Given the description of an element on the screen output the (x, y) to click on. 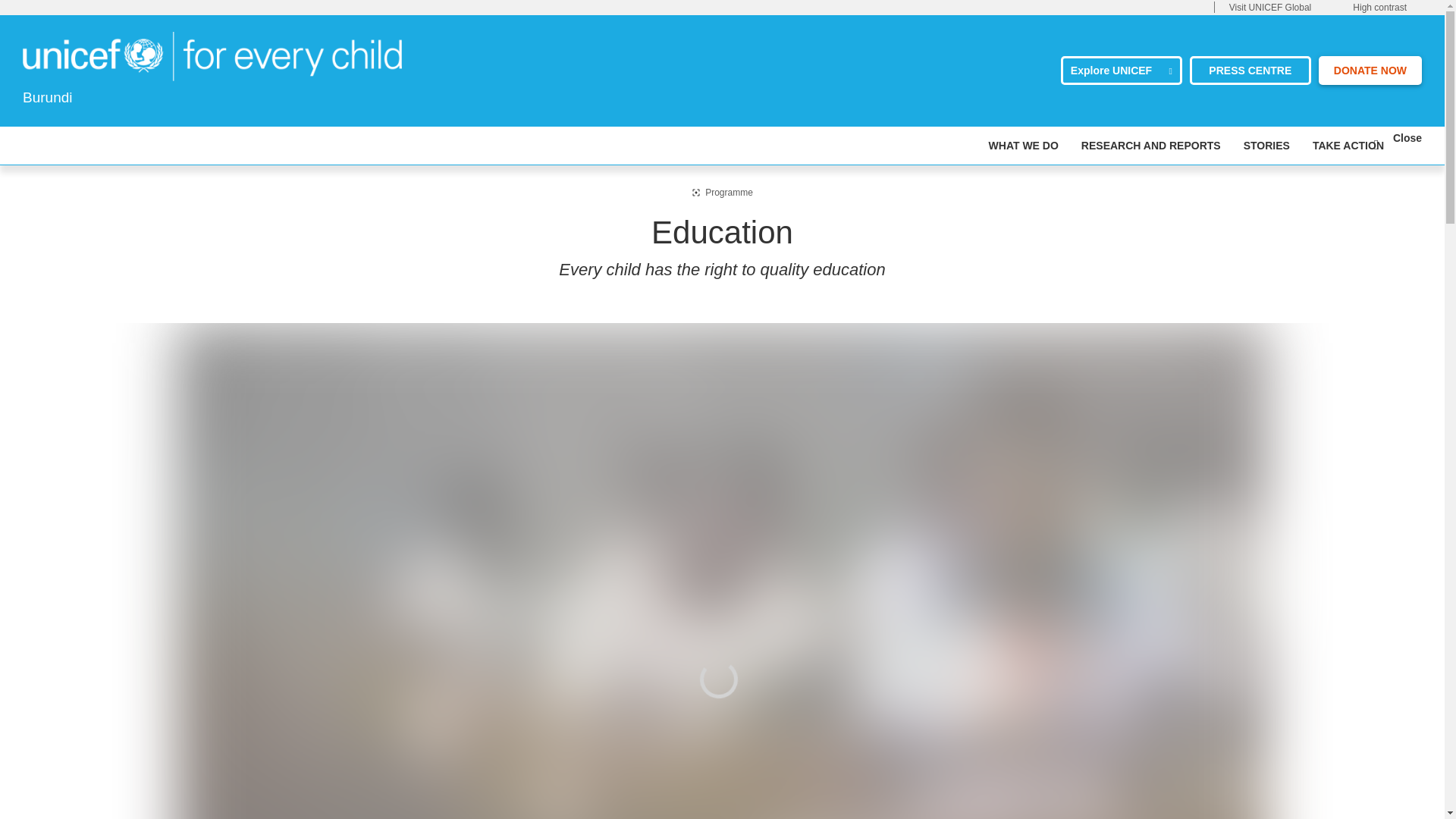
RESEARCH AND REPORTS (1151, 145)
UNICEF (212, 54)
High contrast (1379, 7)
Explore UNICEF (1121, 70)
Burundi (212, 56)
STORIES (1266, 145)
TAKE ACTION (1348, 145)
Visit UNICEF Global (1269, 7)
Explore UNICEF (1121, 70)
DONATE NOW (1370, 70)
